Given the description of an element on the screen output the (x, y) to click on. 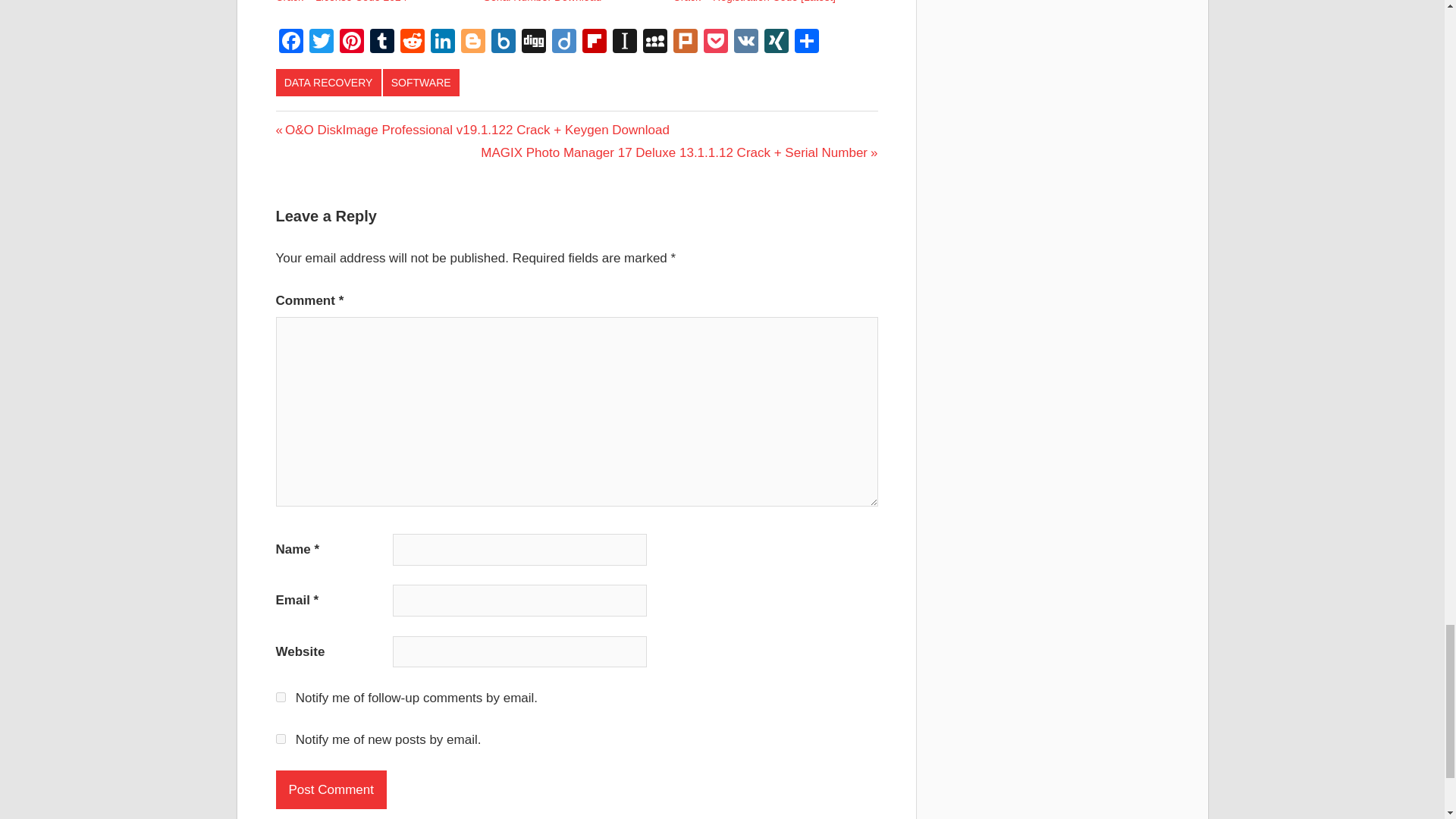
Reddit (412, 42)
Box.net (502, 42)
subscribe (280, 738)
subscribe (280, 696)
Tumblr (381, 42)
Pinterest (351, 42)
Post Comment (331, 789)
Twitter (320, 42)
Digg (533, 42)
Facebook (290, 42)
Blogger (472, 42)
Facebook (290, 42)
LinkedIn (443, 42)
